Given the description of an element on the screen output the (x, y) to click on. 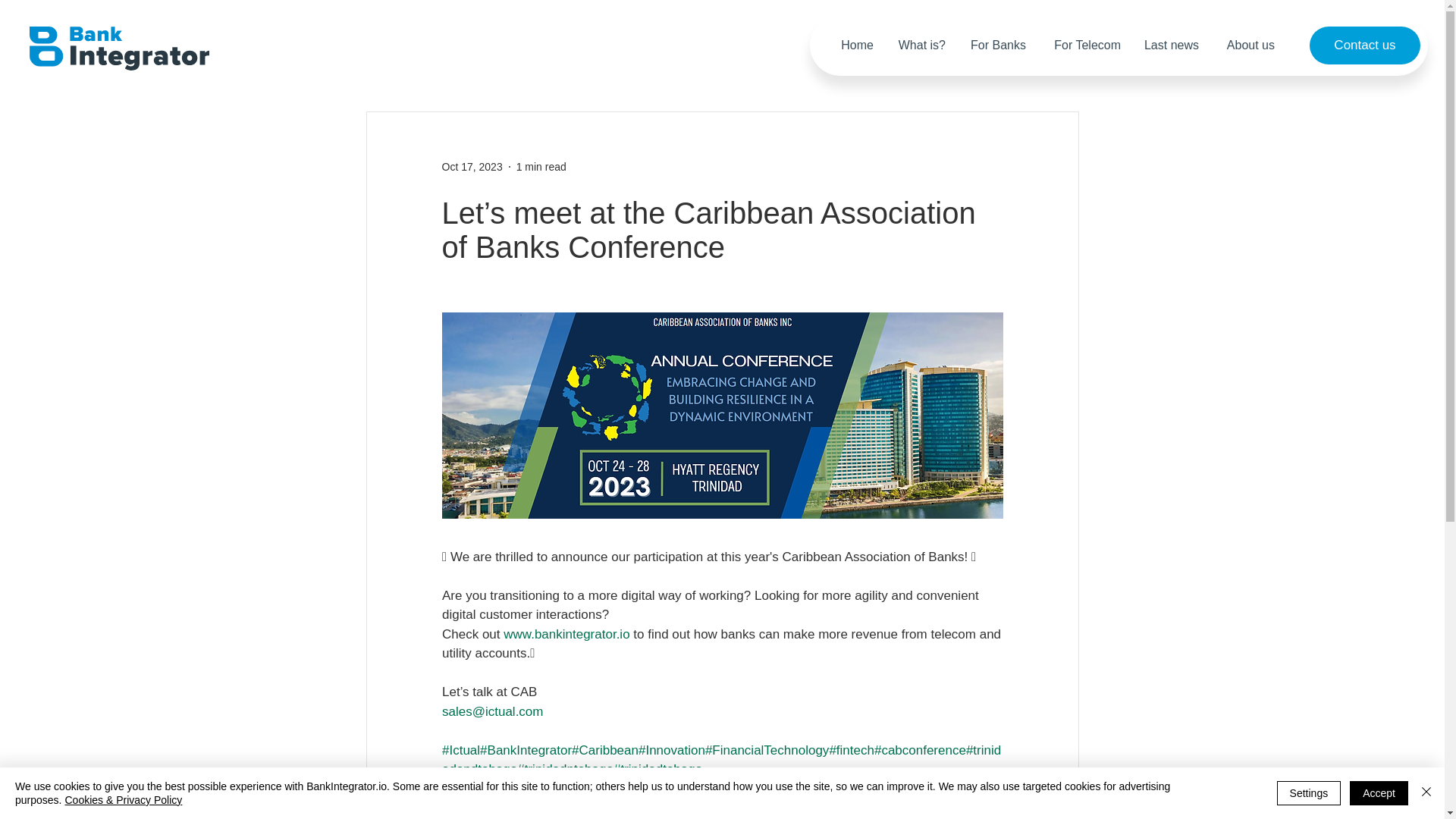
Last news (1170, 44)
Oct 17, 2023 (471, 166)
Settings (1308, 793)
What is? (920, 44)
Contact us (1364, 45)
1 min read (541, 166)
Home (854, 44)
For Banks (996, 44)
About us (1247, 44)
www.bankintegrator.io (565, 634)
